Given the description of an element on the screen output the (x, y) to click on. 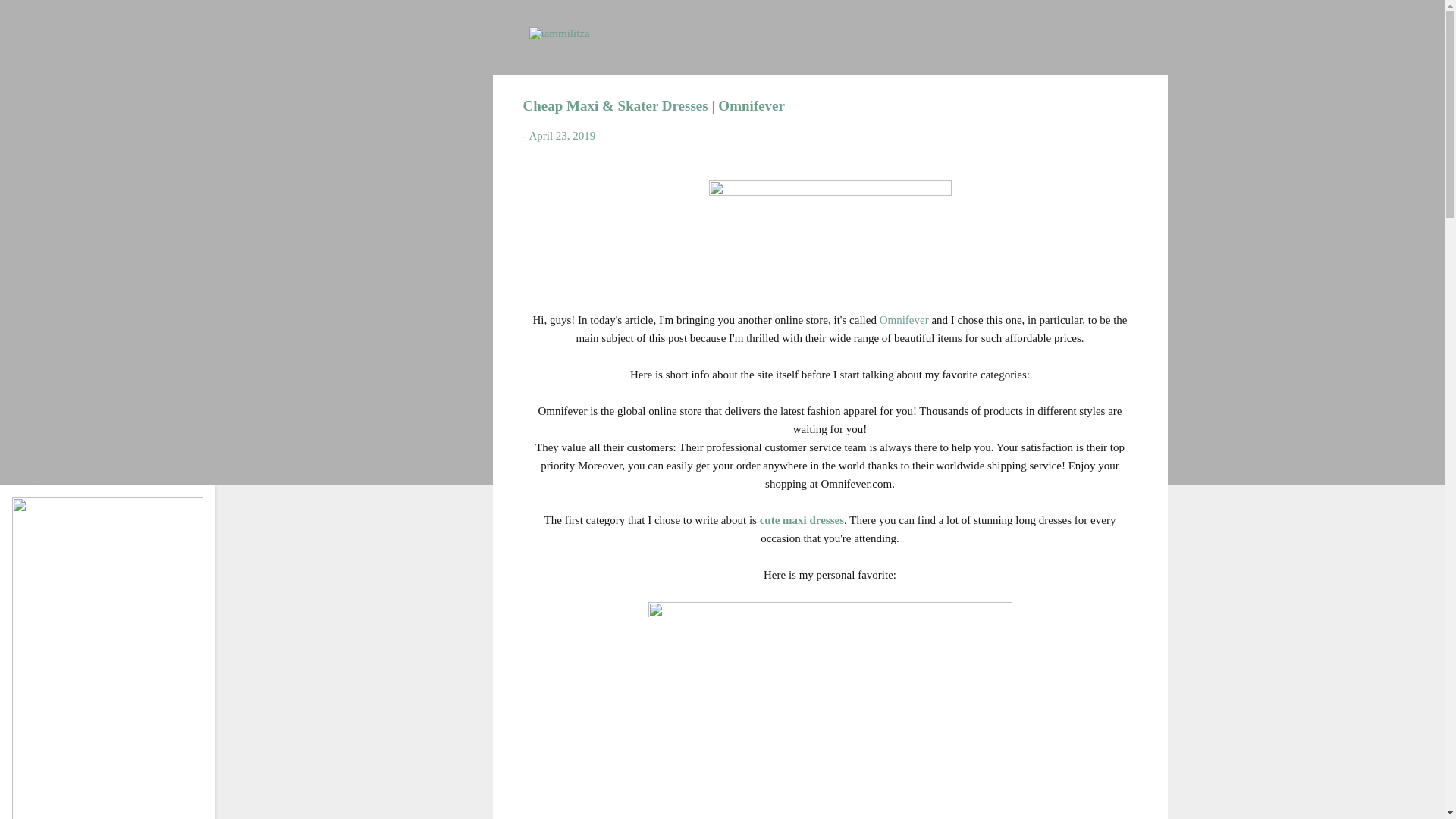
April 23, 2019 (561, 135)
Search (29, 18)
Omnifever (903, 319)
permanent link (561, 135)
cute maxi dresses (802, 520)
